Given the description of an element on the screen output the (x, y) to click on. 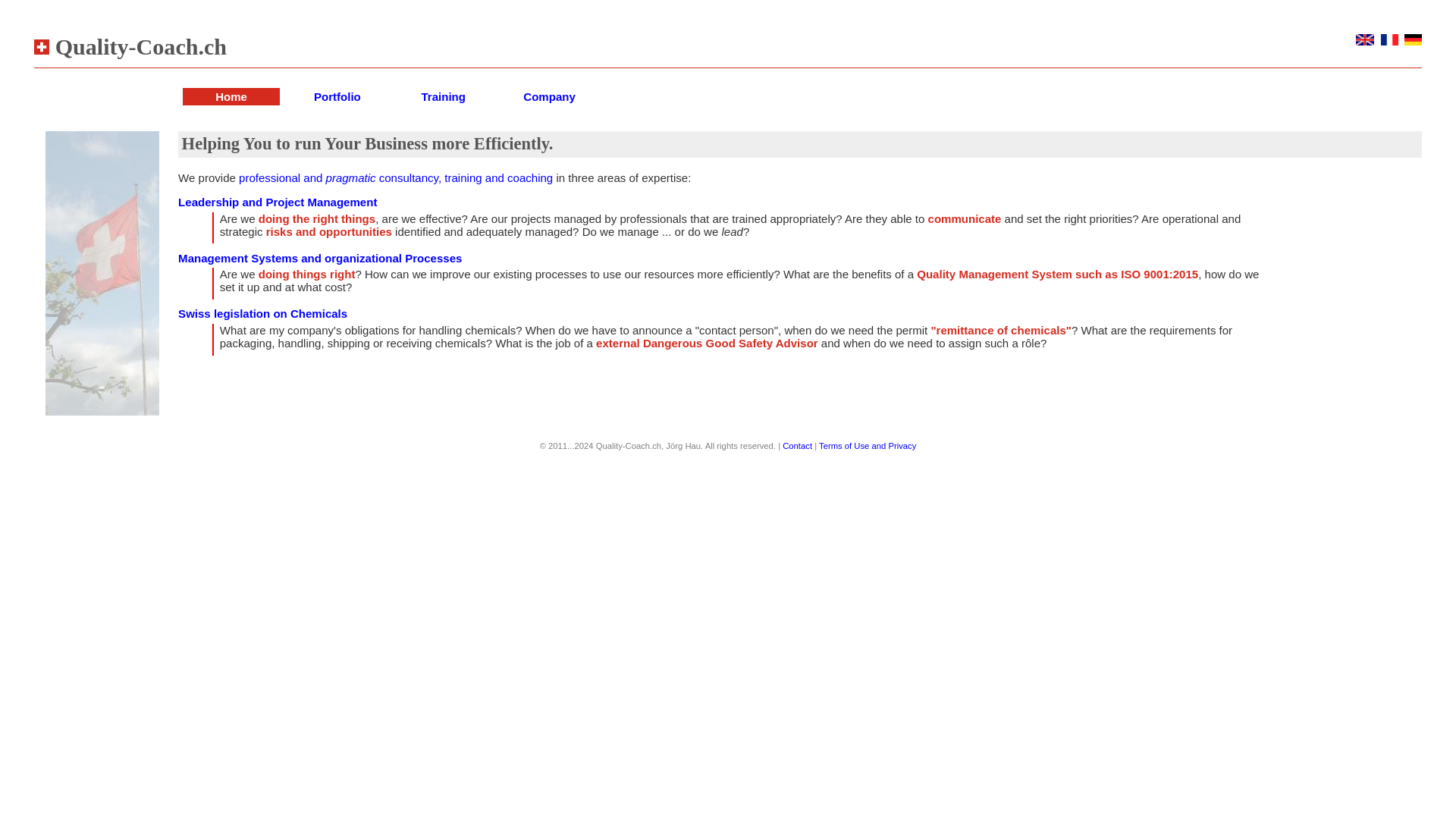
Company (549, 96)
Training (443, 96)
Management Systems and organizational Processes (319, 257)
Portfolio (336, 96)
Leadership and Project Management (277, 201)
Swiss legislation on Chemicals (262, 313)
